Given the description of an element on the screen output the (x, y) to click on. 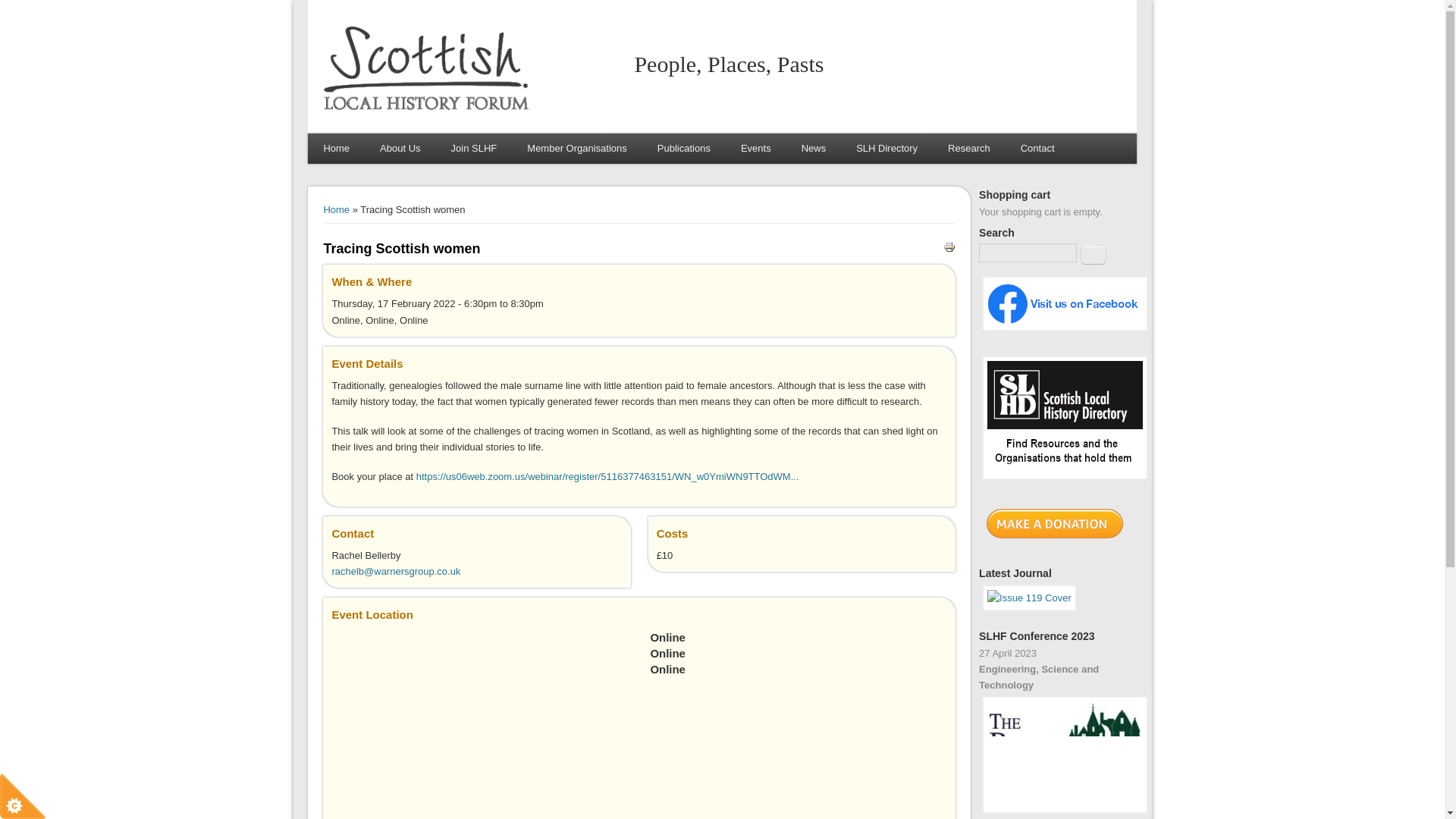
About the Scottish Local History Forum (400, 148)
Become a member of Scottish Local History Forum (473, 148)
Search (1093, 254)
Home (429, 117)
Events (755, 148)
Home (336, 148)
Join SLHF (473, 148)
Publications (683, 148)
Member Organisations (577, 148)
About Us (400, 148)
